Given the description of an element on the screen output the (x, y) to click on. 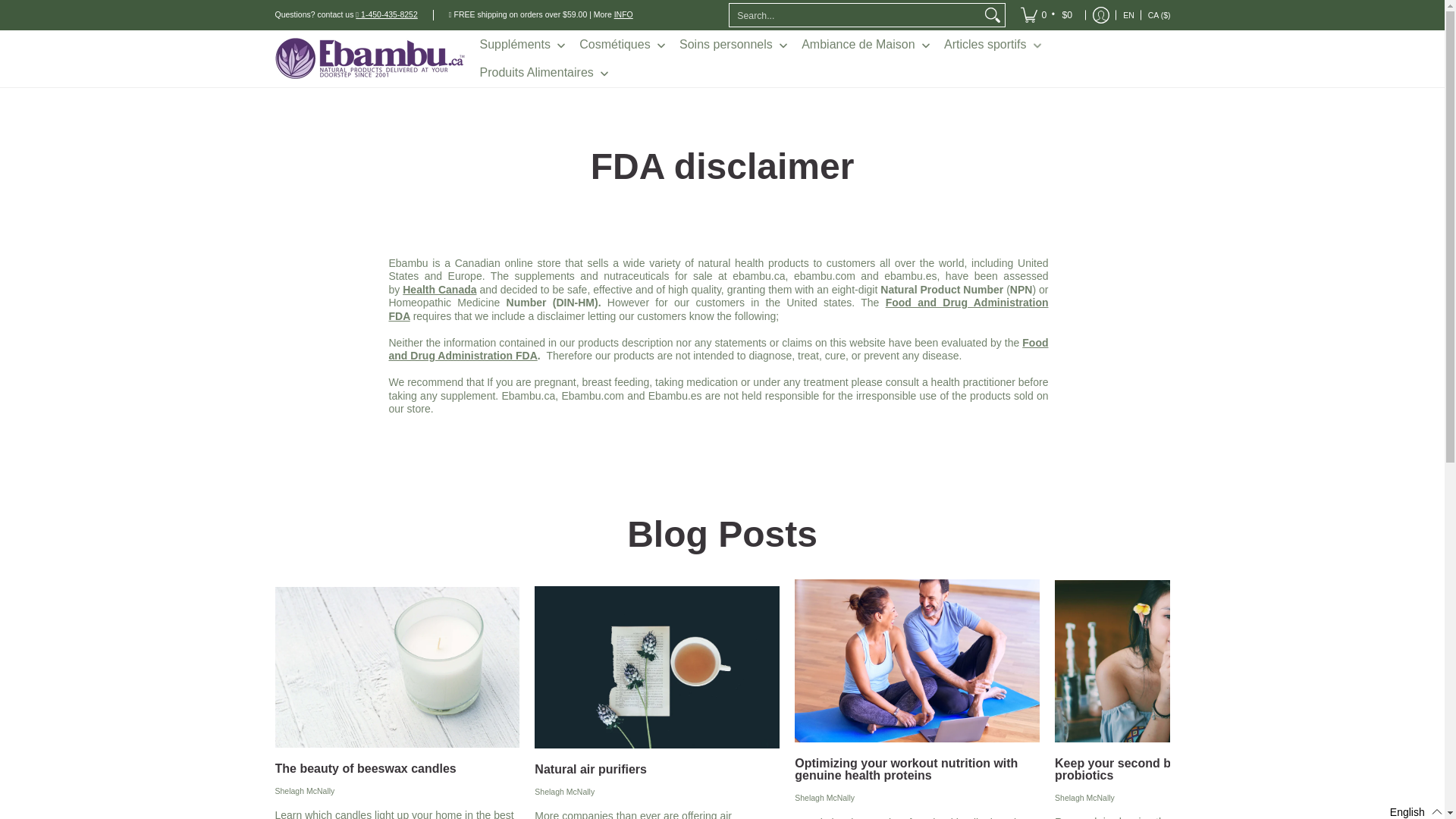
Food and Drug Administration FDA (718, 309)
The beauty of beeswax candles (366, 768)
Health Canada (439, 289)
Produits Alimentaires (544, 72)
Natural air purifiers (656, 667)
INFO (623, 13)
Soins personnels (734, 44)
Natural air purifiers (590, 768)
Articles sportifs (993, 44)
Food and Drug Administration FDA (718, 349)
